Given the description of an element on the screen output the (x, y) to click on. 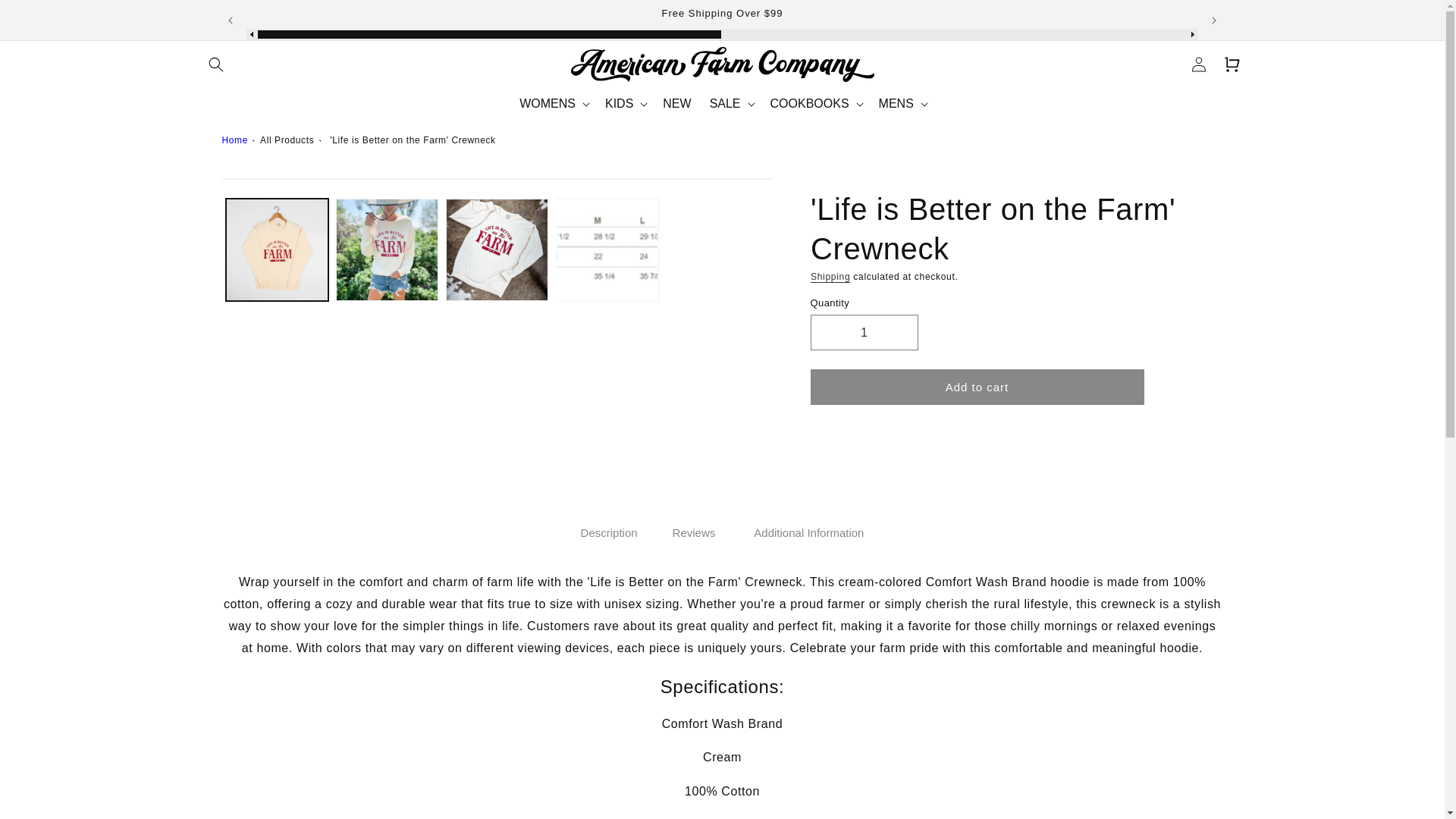
1 (863, 332)
Skip to content (45, 17)
